Given the description of an element on the screen output the (x, y) to click on. 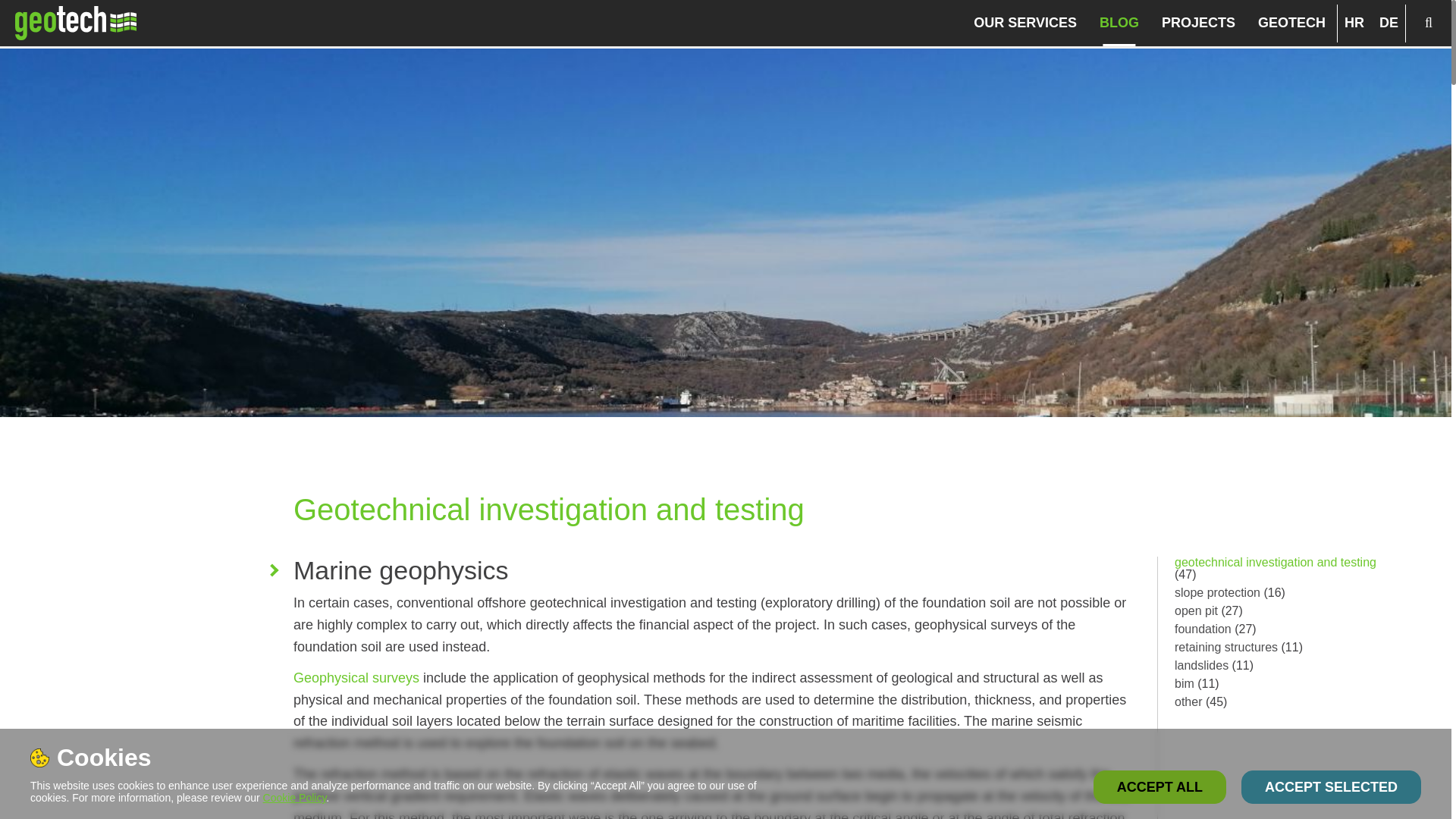
foundation (1202, 628)
geotechnical investigation and testing (1274, 562)
open pit (1195, 610)
OUR SERVICES (1025, 22)
slope protection (1217, 592)
GEOTECH (1291, 22)
Geophysical surveys (356, 677)
PROJECTS (1198, 22)
BLOG (1119, 22)
